Given the description of an element on the screen output the (x, y) to click on. 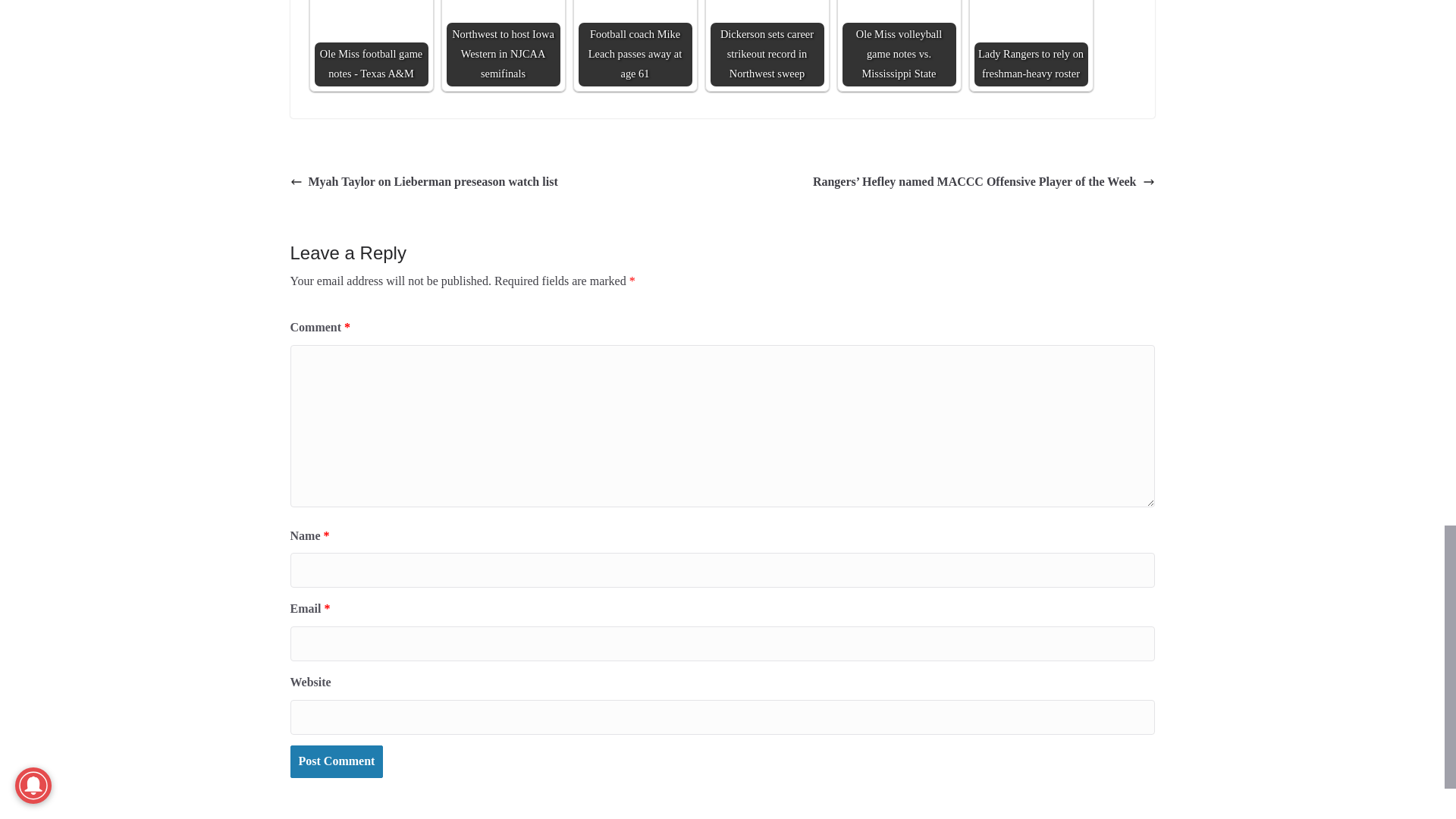
Post Comment (335, 761)
Dickerson sets career strikeout record in Northwest sweep (767, 43)
Northwest to host Iowa Western in NJCAA semifinals (502, 43)
Football coach Mike Leach passes away at age 61 (634, 43)
